Given the description of an element on the screen output the (x, y) to click on. 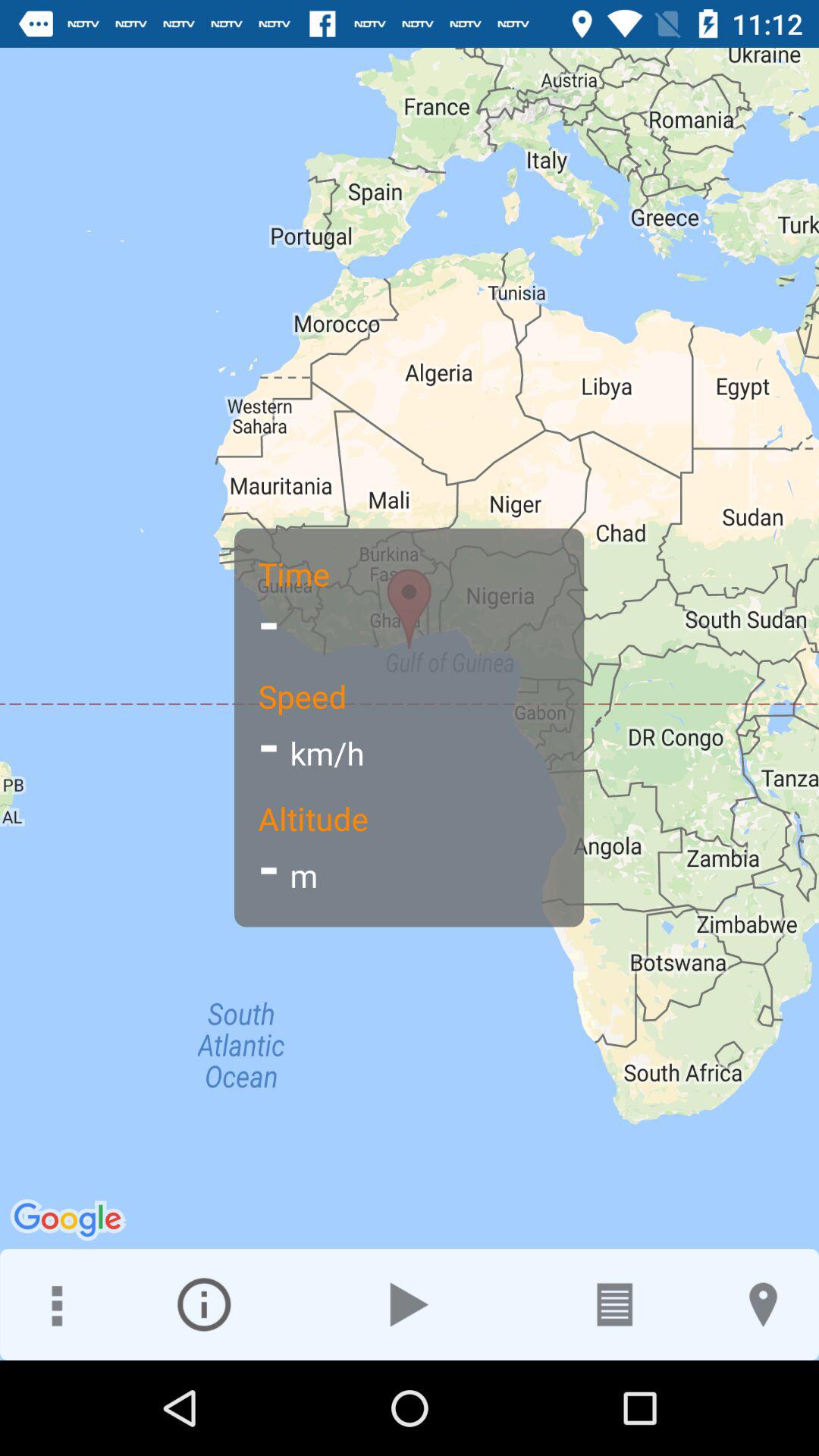
turn on item below the - icon (203, 1304)
